Given the description of an element on the screen output the (x, y) to click on. 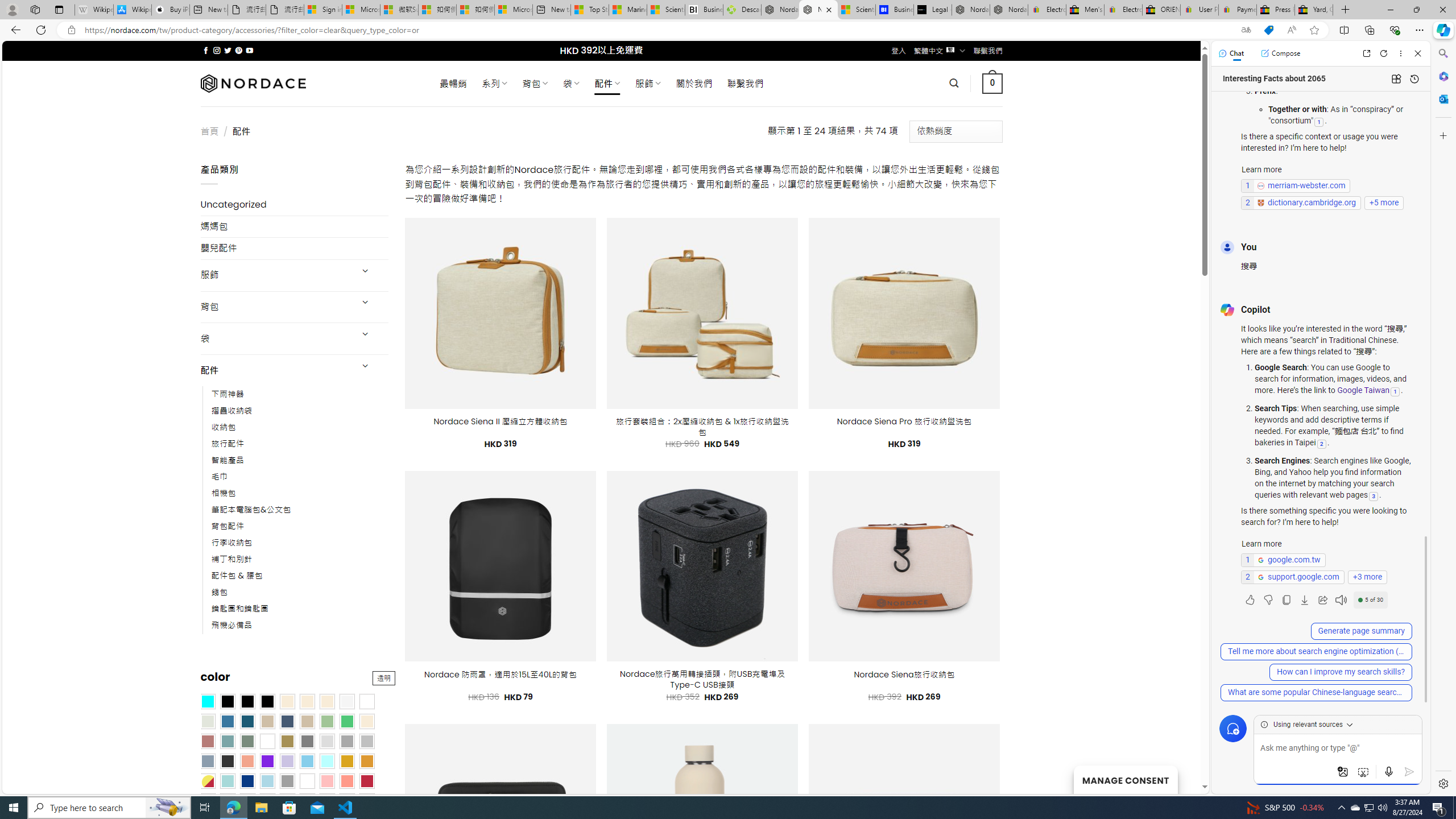
Descarga Driver Updater (741, 9)
This site has coupons! Shopping in Microsoft Edge (1268, 29)
Minimize Search pane (1442, 53)
